Given the description of an element on the screen output the (x, y) to click on. 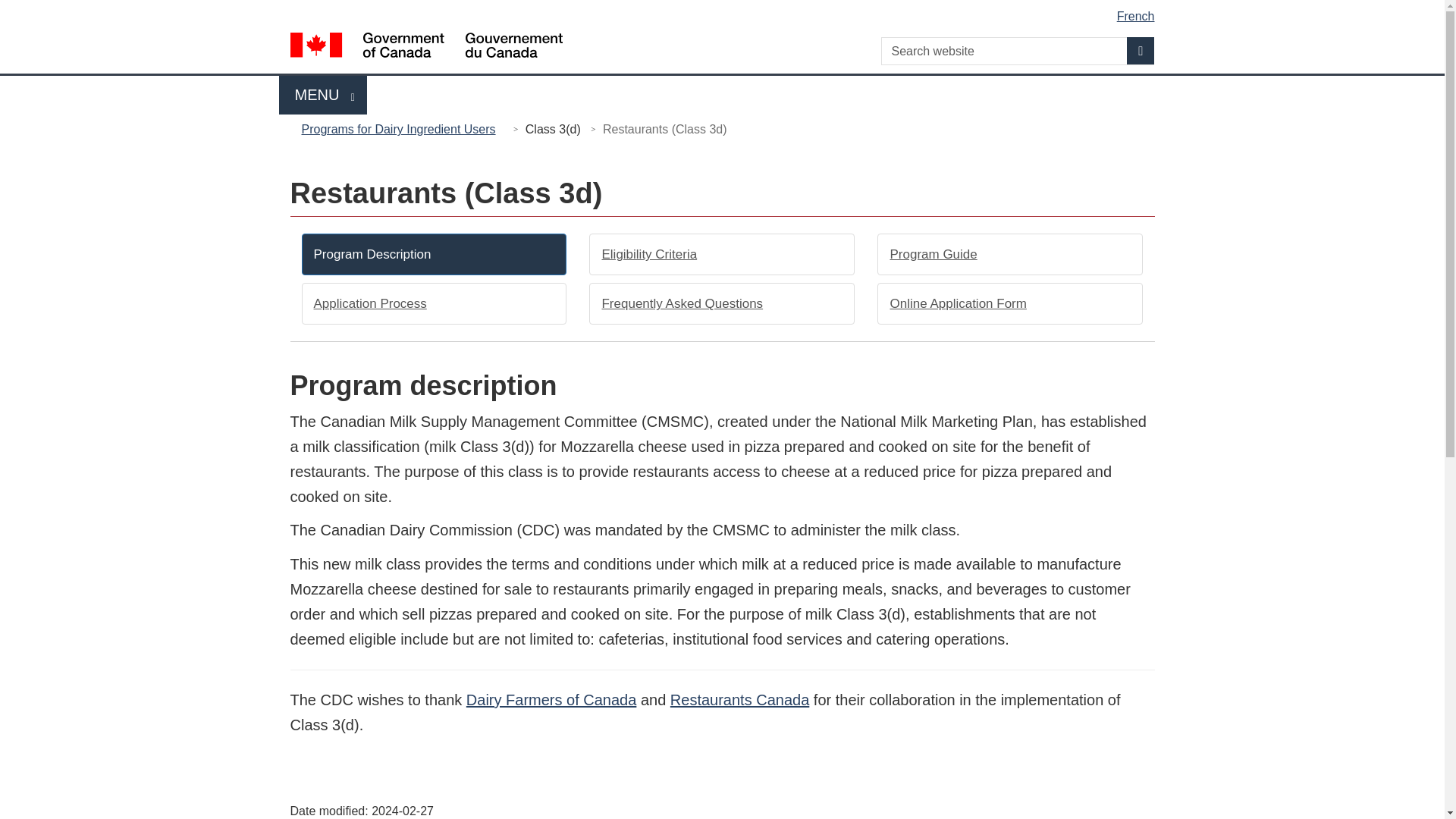
Search (1140, 50)
Search (322, 95)
Skip to main content (1140, 50)
French (725, 11)
